Given the description of an element on the screen output the (x, y) to click on. 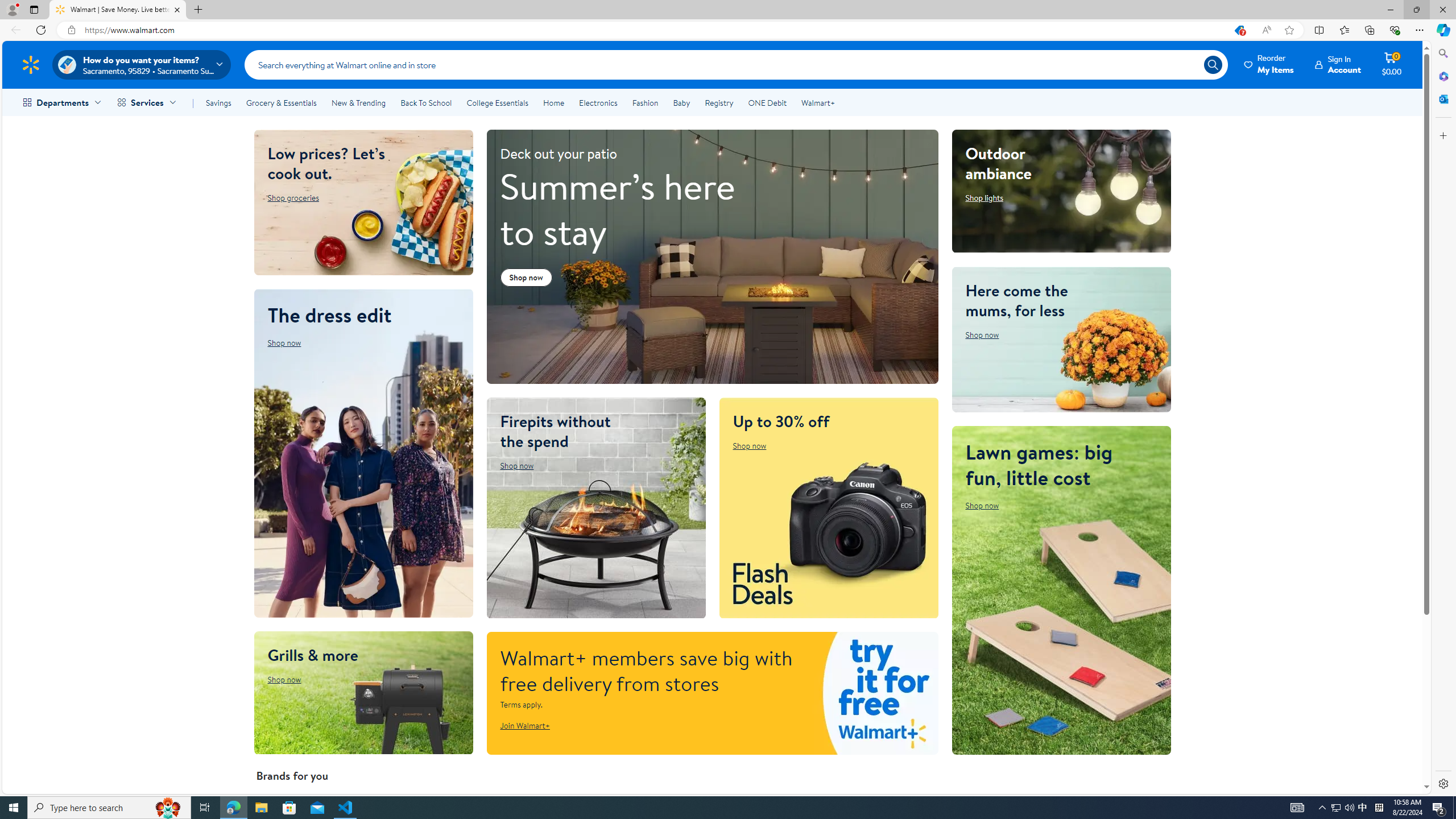
Grocery & Essentials (280, 102)
Registry (718, 102)
Shop lights Outdoor ambiance (984, 197)
Shop now Grills & more (284, 679)
College Essentials (496, 102)
Walmart Homepage (30, 64)
New & Trending (358, 102)
